Given the description of an element on the screen output the (x, y) to click on. 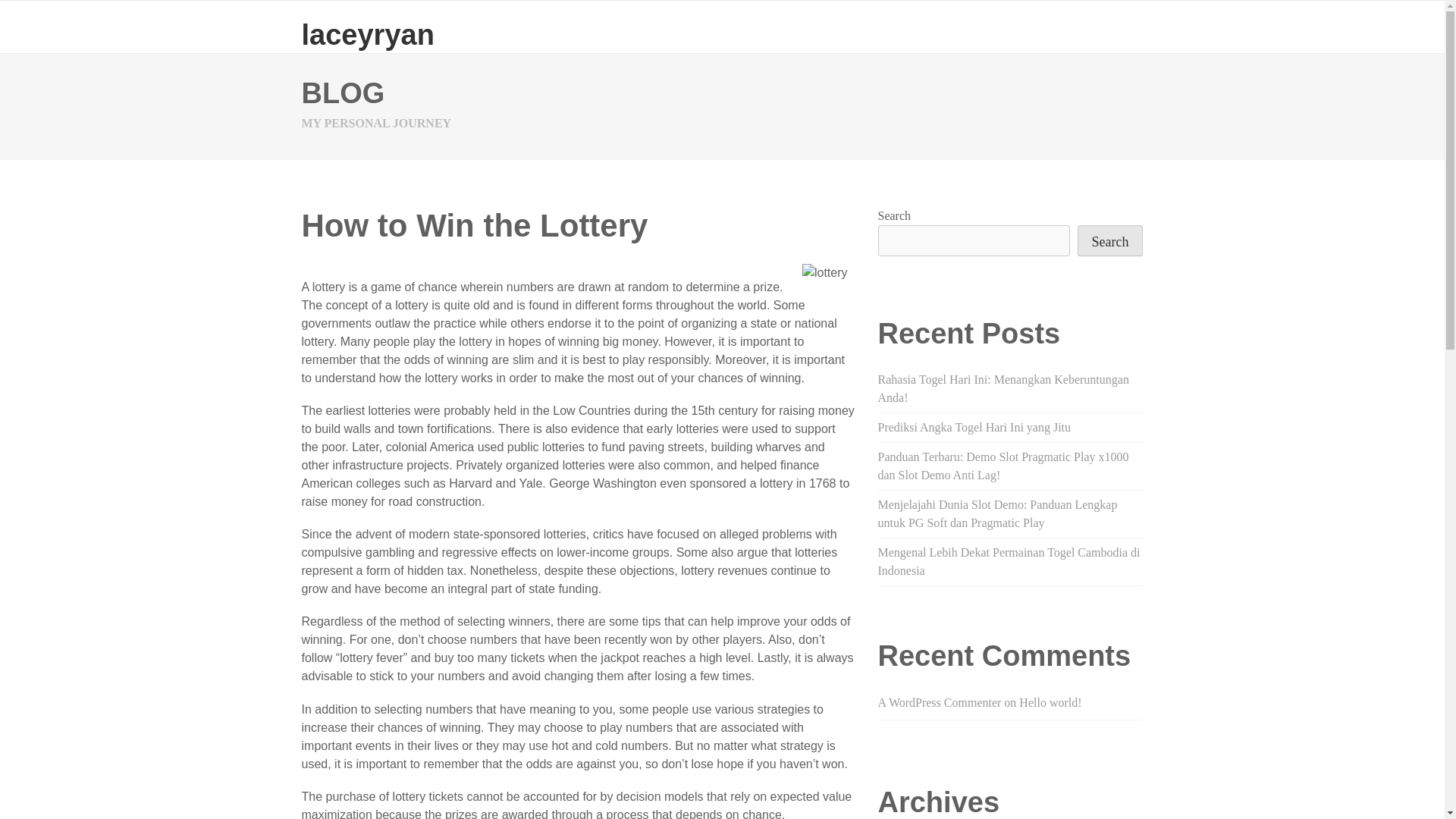
Rahasia Togel Hari Ini: Menangkan Keberuntungan Anda! (1003, 388)
laceyryan (367, 34)
Mengenal Lebih Dekat Permainan Togel Cambodia di Indonesia (1008, 561)
Search (1109, 240)
Hello world! (1050, 702)
Prediksi Angka Togel Hari Ini yang Jitu (974, 427)
A WordPress Commenter (939, 702)
